Given the description of an element on the screen output the (x, y) to click on. 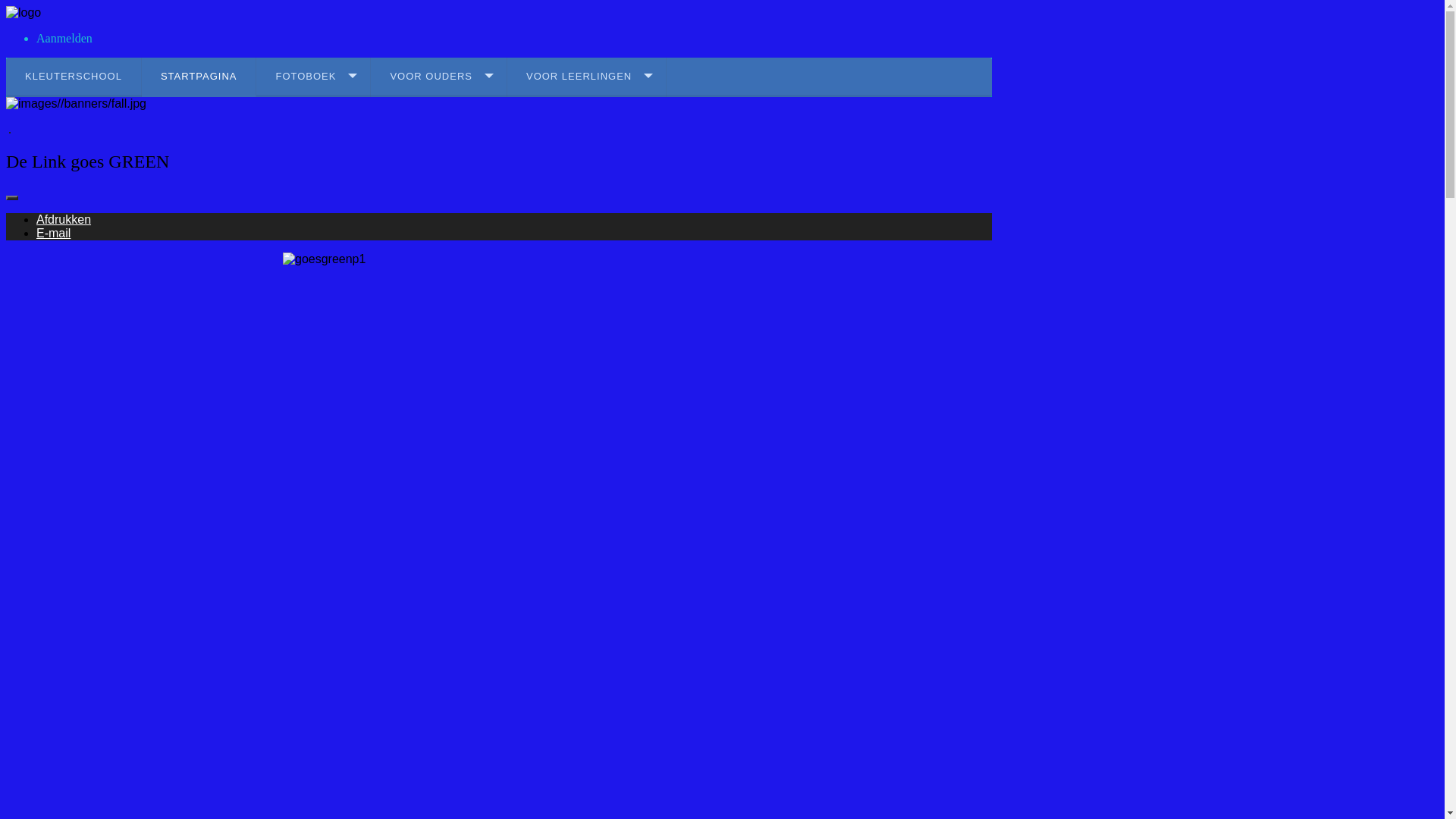
Afdrukken Element type: text (63, 219)
E-mail Element type: text (53, 232)
VOOR LEERLINGEN Element type: text (586, 77)
KLEUTERSCHOOL Element type: text (73, 77)
FOTOBOEK Element type: text (313, 77)
STARTPAGINA Element type: text (199, 77)
VOOR OUDERS Element type: text (438, 77)
